Given the description of an element on the screen output the (x, y) to click on. 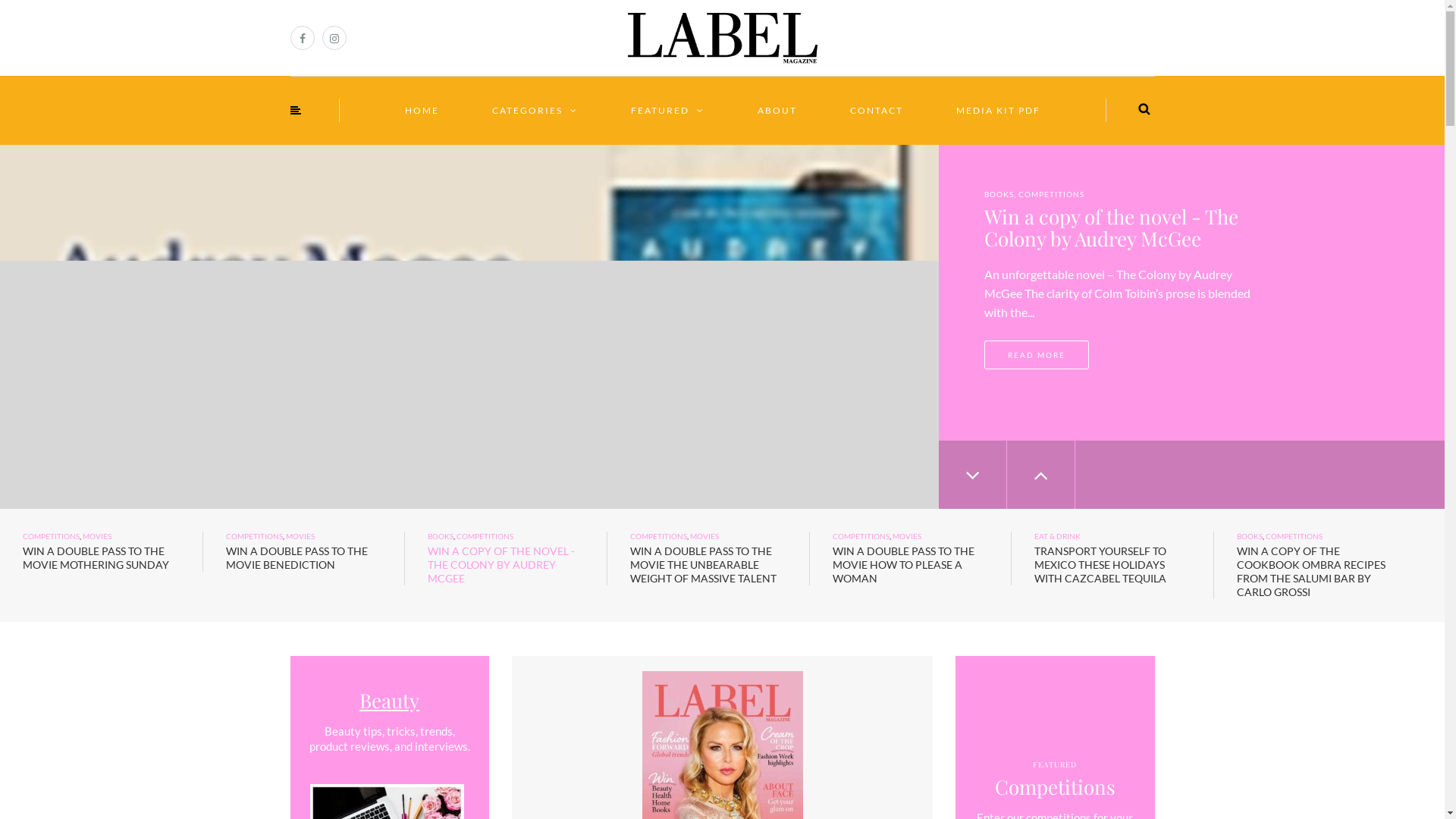
MOVIES Element type: text (96, 535)
MOVIES Element type: text (704, 535)
Beauty Element type: text (389, 700)
COMPETITIONS Element type: text (1293, 535)
MOVIES Element type: text (299, 535)
COMPETITIONS Element type: text (860, 535)
ABOUT Element type: text (776, 110)
MOVIES Element type: text (906, 535)
READ MORE Element type: text (1036, 354)
Win a double pass to the movie Benediction Element type: text (1120, 227)
CATEGORIES Element type: text (534, 110)
COMPETITIONS Element type: text (253, 535)
HOME Element type: text (421, 110)
COMPETITIONS Element type: text (658, 535)
COMPETITIONS Element type: text (50, 535)
CONTACT Element type: text (876, 110)
MEDIA KIT PDF Element type: text (998, 110)
Search Element type: text (1143, 108)
MOVIES Element type: text (1071, 193)
BOOKS Element type: text (440, 535)
EAT & DRINK Element type: text (1057, 535)
FEATURED Element type: text (666, 110)
COMPETITIONS Element type: text (484, 535)
BOOKS Element type: text (1249, 535)
COMPETITIONS Element type: text (1017, 193)
